Given the description of an element on the screen output the (x, y) to click on. 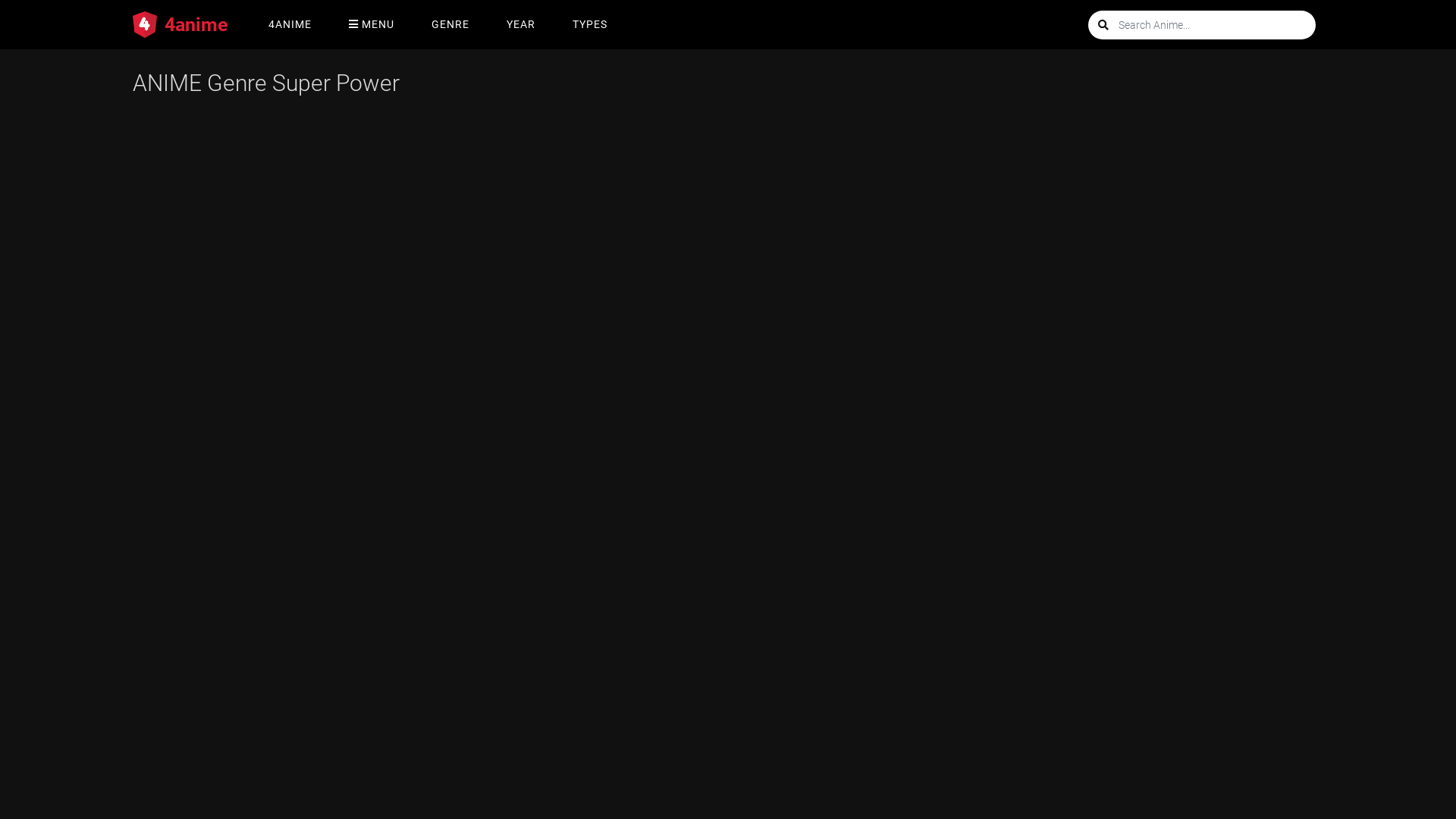
4ANIME Element type: text (289, 24)
4anime Element type: text (180, 24)
YEAR Element type: text (520, 24)
MENU Element type: text (371, 24)
GENRE Element type: text (450, 24)
TYPES Element type: text (589, 24)
